Given the description of an element on the screen output the (x, y) to click on. 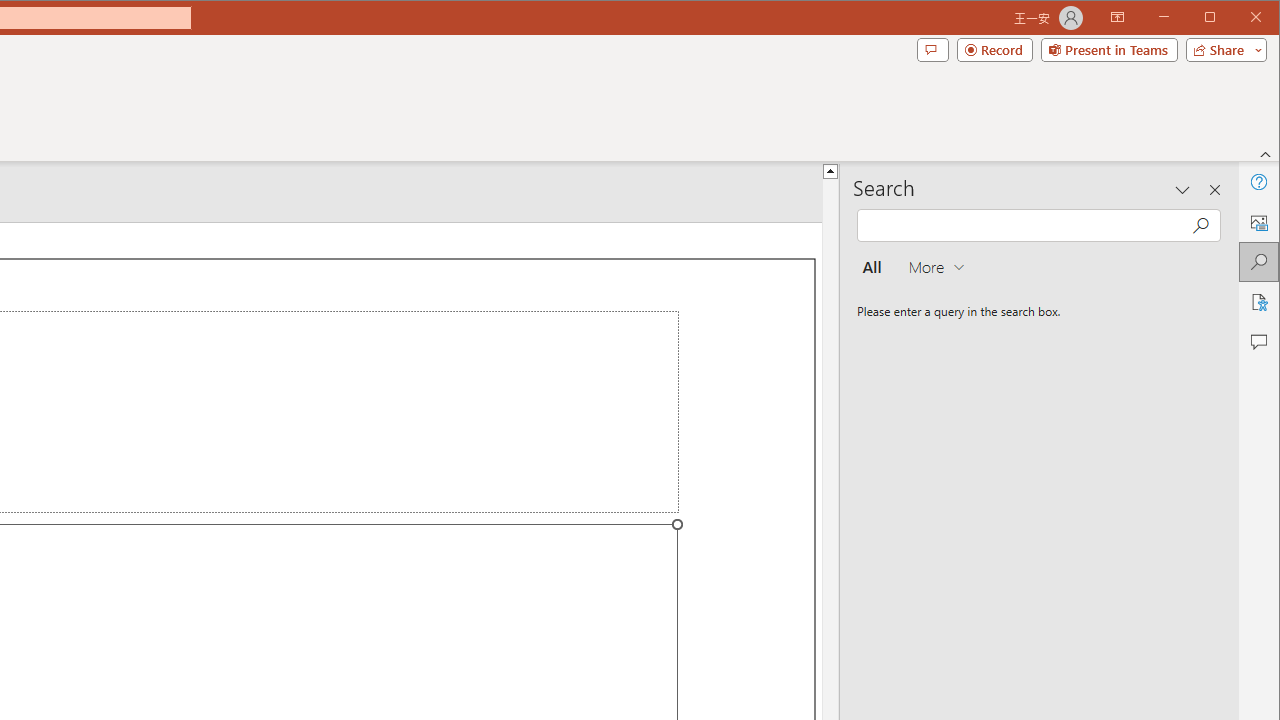
Alt Text (1258, 221)
Search (1258, 261)
Maximize (1238, 18)
